Given the description of an element on the screen output the (x, y) to click on. 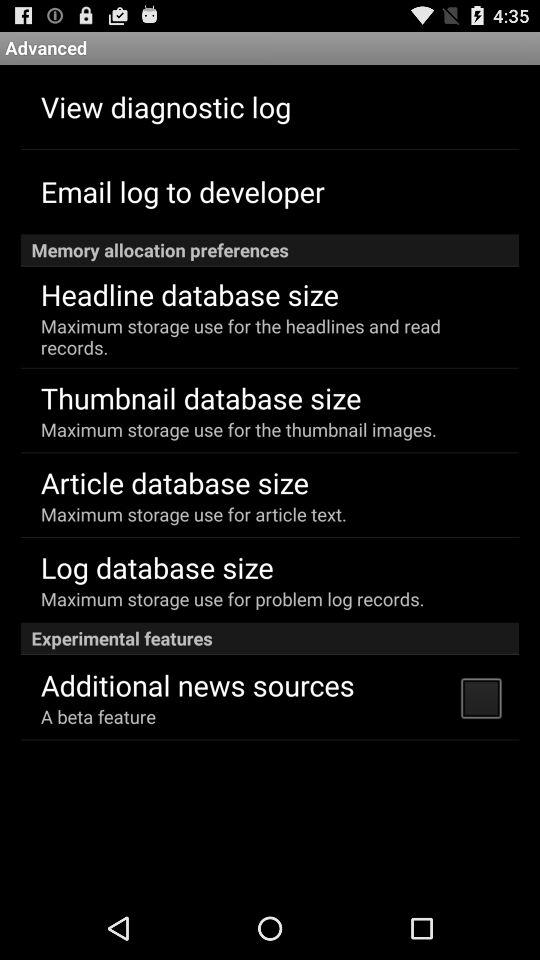
choose item below the view diagnostic log item (182, 190)
